Given the description of an element on the screen output the (x, y) to click on. 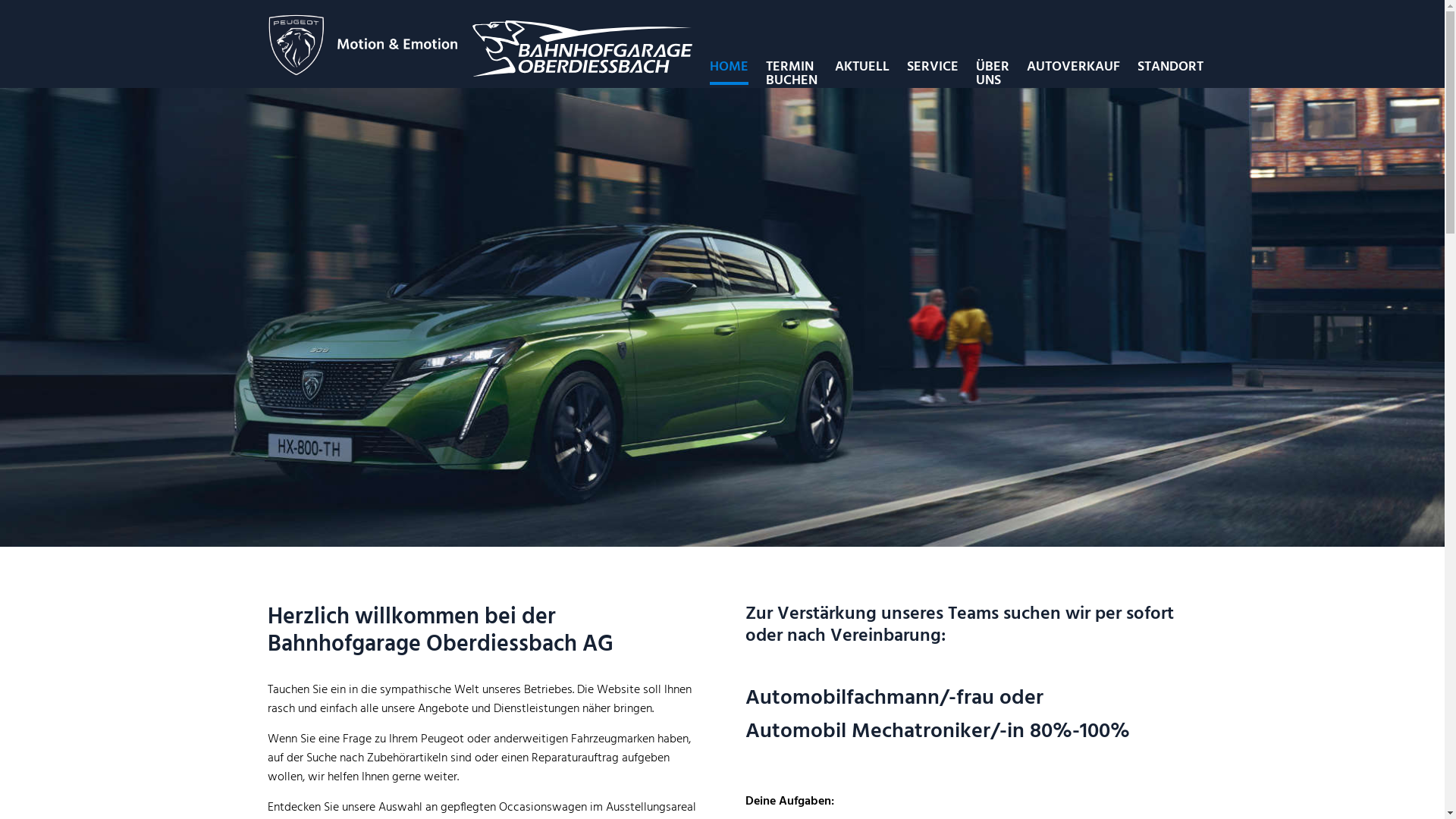
AUTOVERKAUF Element type: text (1073, 67)
AKTUELL Element type: text (861, 67)
SERVICE Element type: text (932, 67)
STANDORT Element type: text (1170, 67)
TERMIN BUCHEN Element type: text (791, 73)
